Given the description of an element on the screen output the (x, y) to click on. 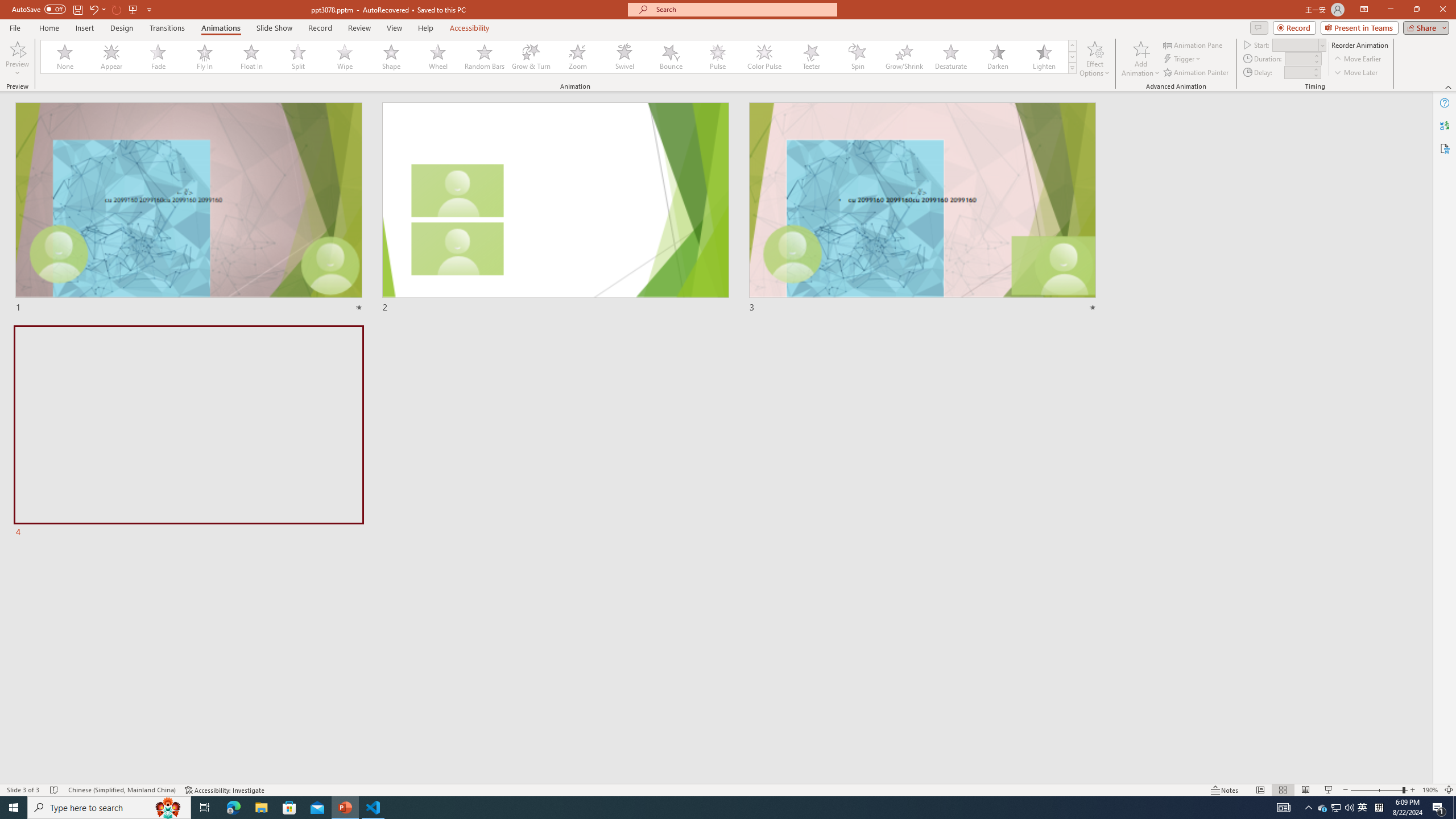
Fade (158, 56)
Animation Painter (1196, 72)
Random Bars (484, 56)
Translator (1444, 125)
Animation Duration (1298, 58)
